Given the description of an element on the screen output the (x, y) to click on. 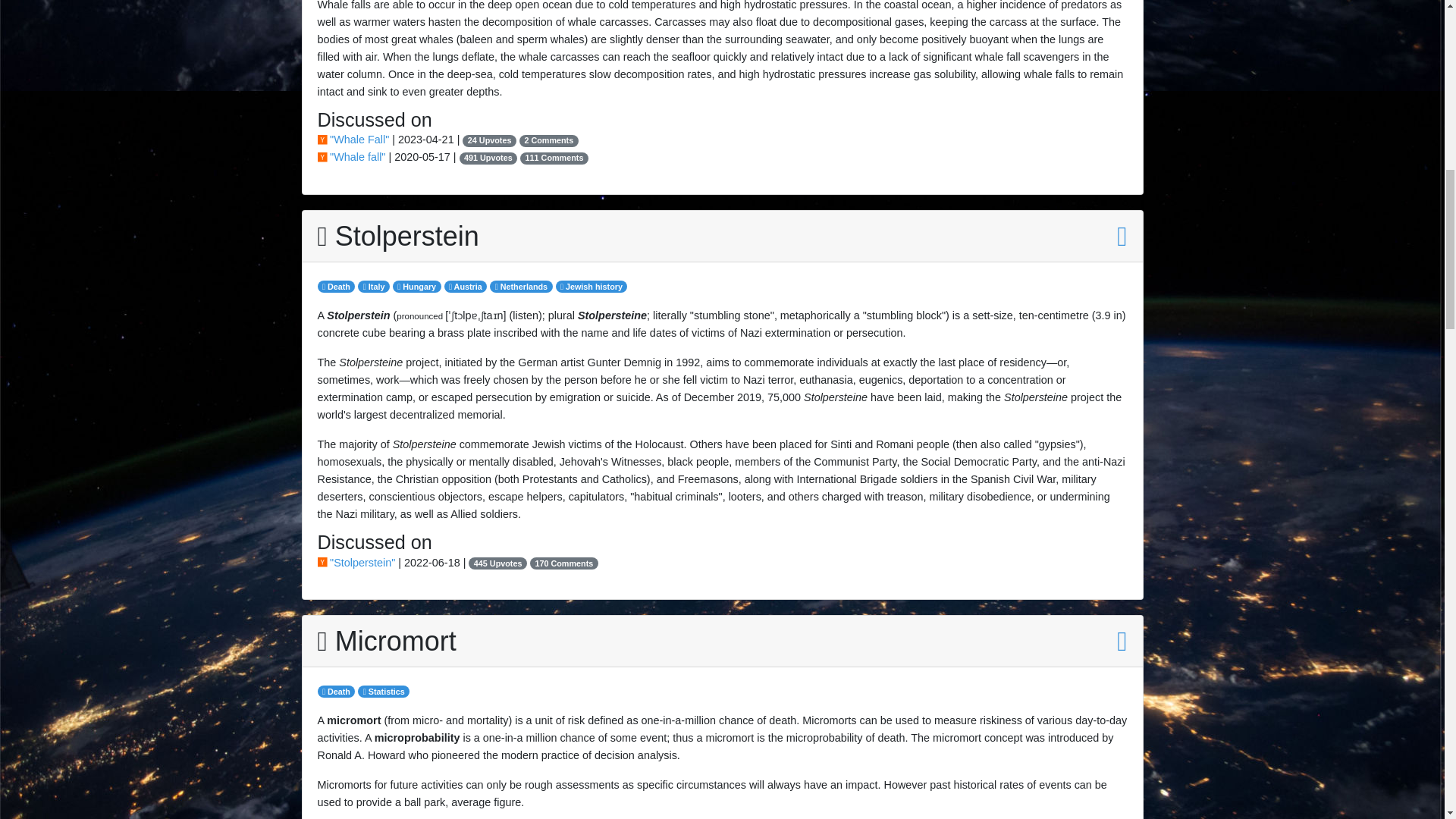
Stolperstein (398, 235)
"Whale fall" (352, 156)
Micromort (386, 640)
German-language text (358, 315)
"Stolperstein" (357, 562)
German-language text (612, 315)
"Whale Fall" (354, 139)
